Given the description of an element on the screen output the (x, y) to click on. 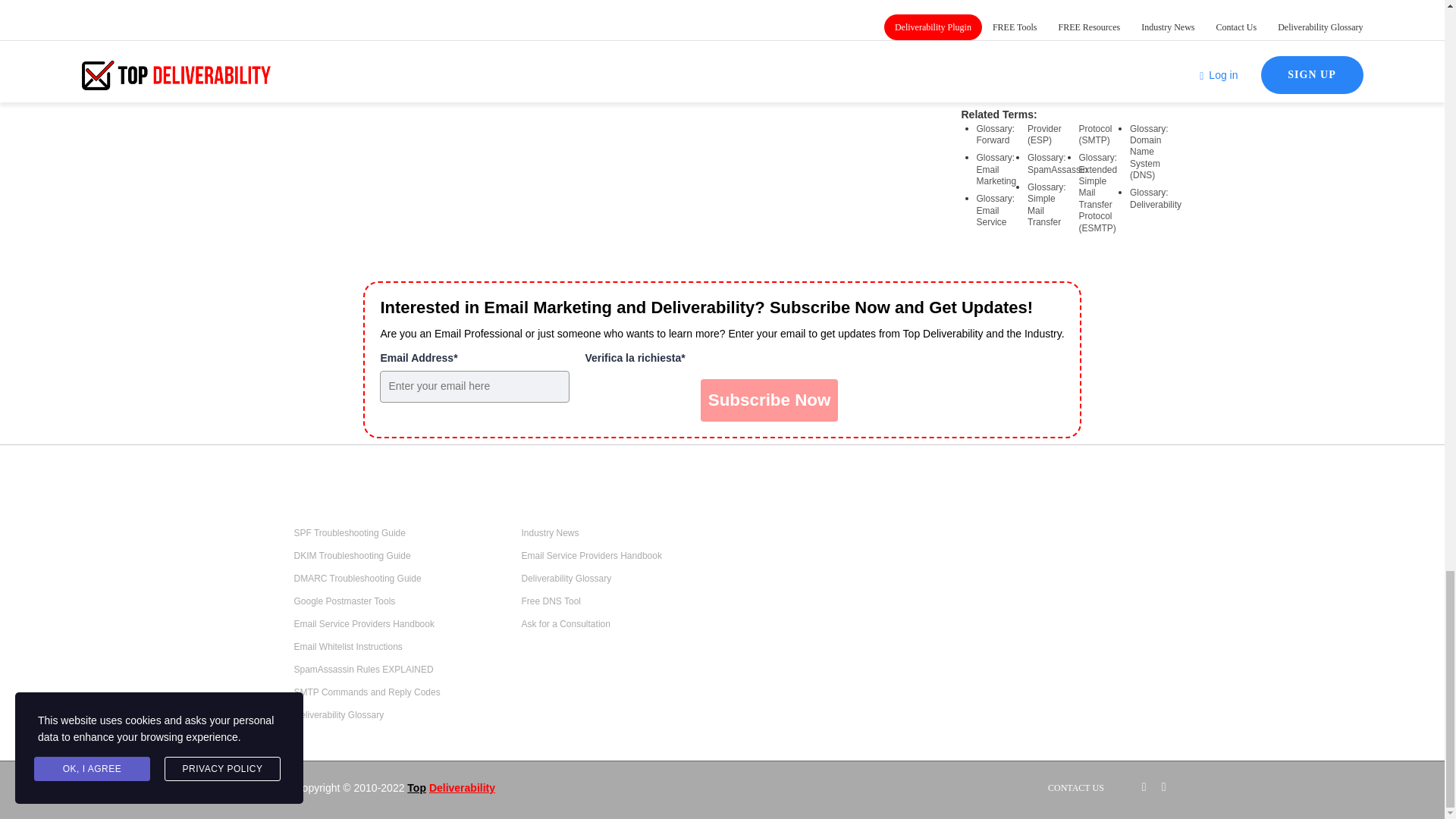
Share on Digg (1046, 28)
